Given the description of an element on the screen output the (x, y) to click on. 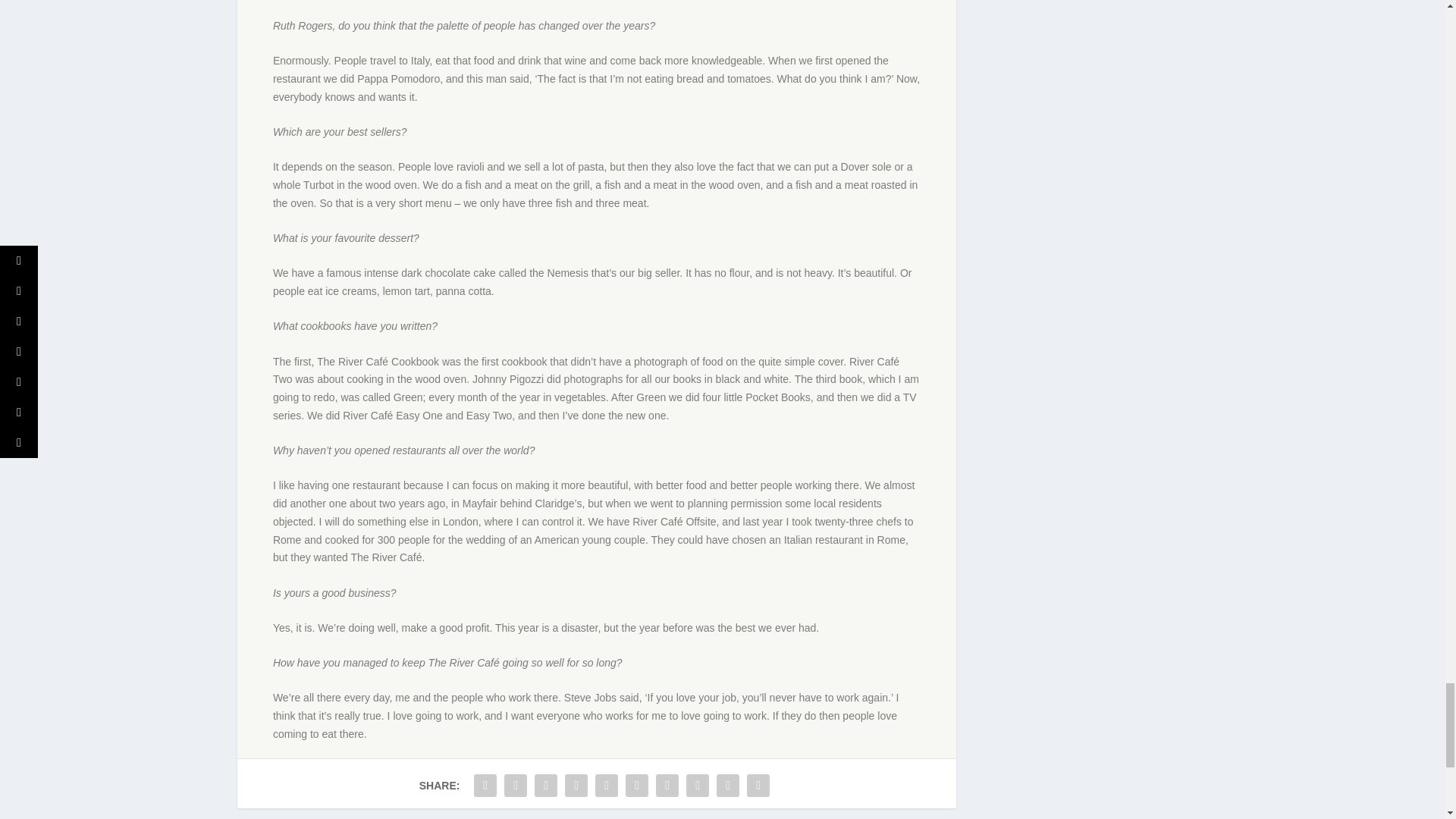
Share "Ruth Rogers" via Twitter (515, 785)
Share "Ruth Rogers" via Facebook (485, 785)
Share "Ruth Rogers" via Tumblr (575, 785)
Share "Ruth Rogers" via Pinterest (606, 785)
